Given the description of an element on the screen output the (x, y) to click on. 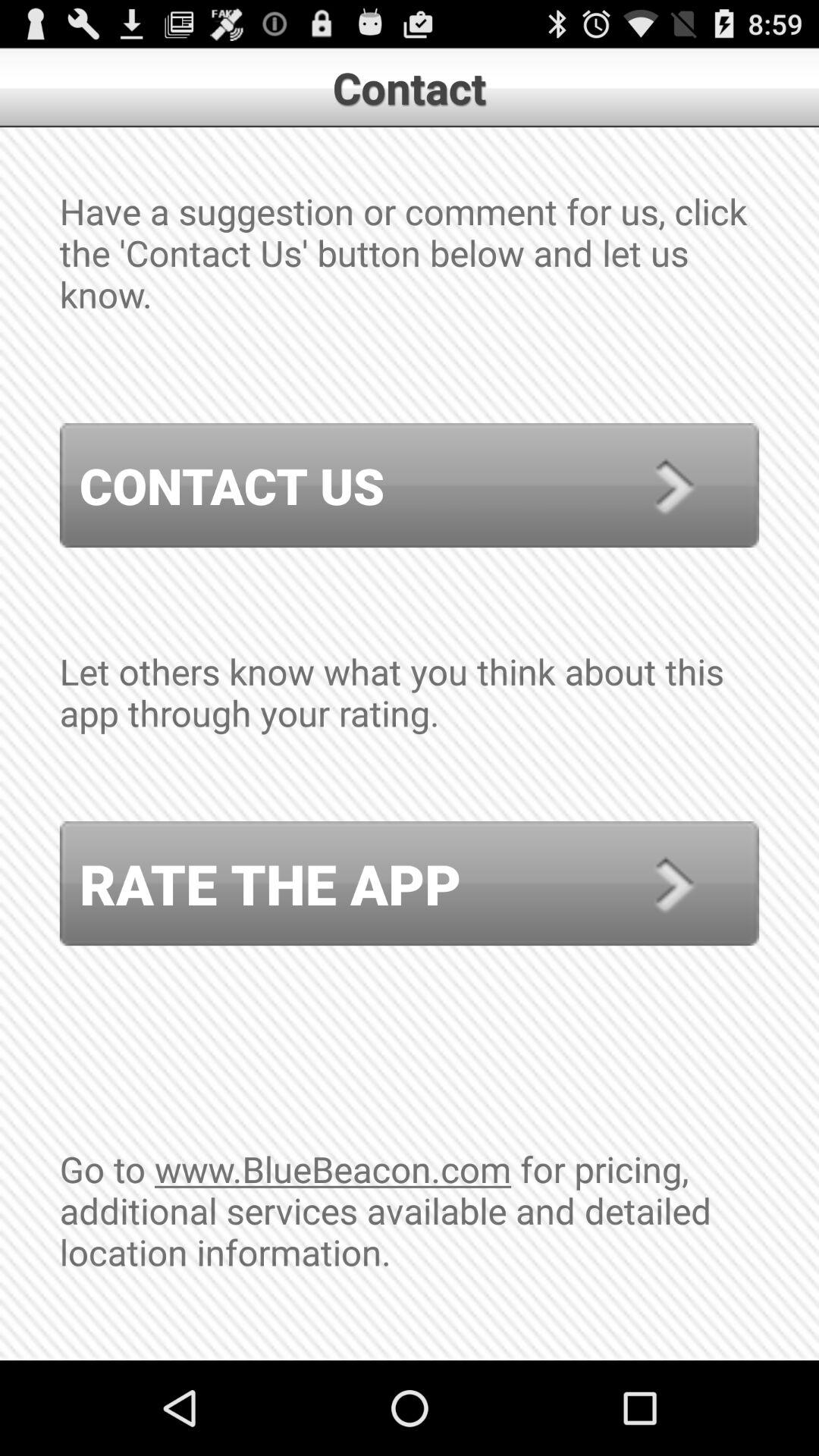
open the icon above the go to www (409, 883)
